Given the description of an element on the screen output the (x, y) to click on. 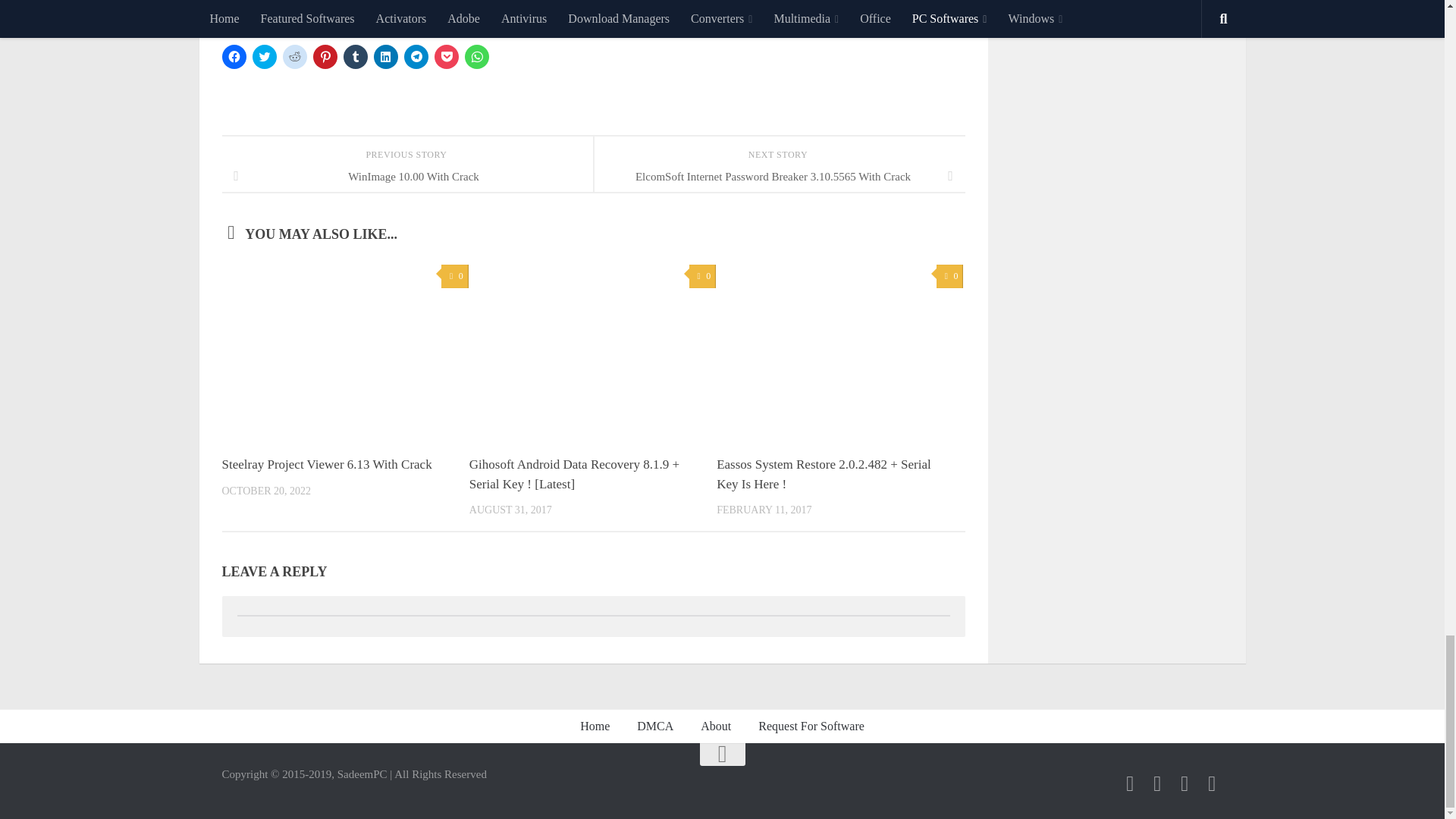
Click to share on Pinterest (324, 56)
Click to share on Pocket (445, 56)
Click to share on Reddit (293, 56)
Click to share on Facebook (233, 56)
Click to share on Tumblr (354, 56)
Click to share on Telegram (415, 56)
Click to share on LinkedIn (384, 56)
Click to share on WhatsApp (475, 56)
Click to share on Twitter (263, 56)
